Given the description of an element on the screen output the (x, y) to click on. 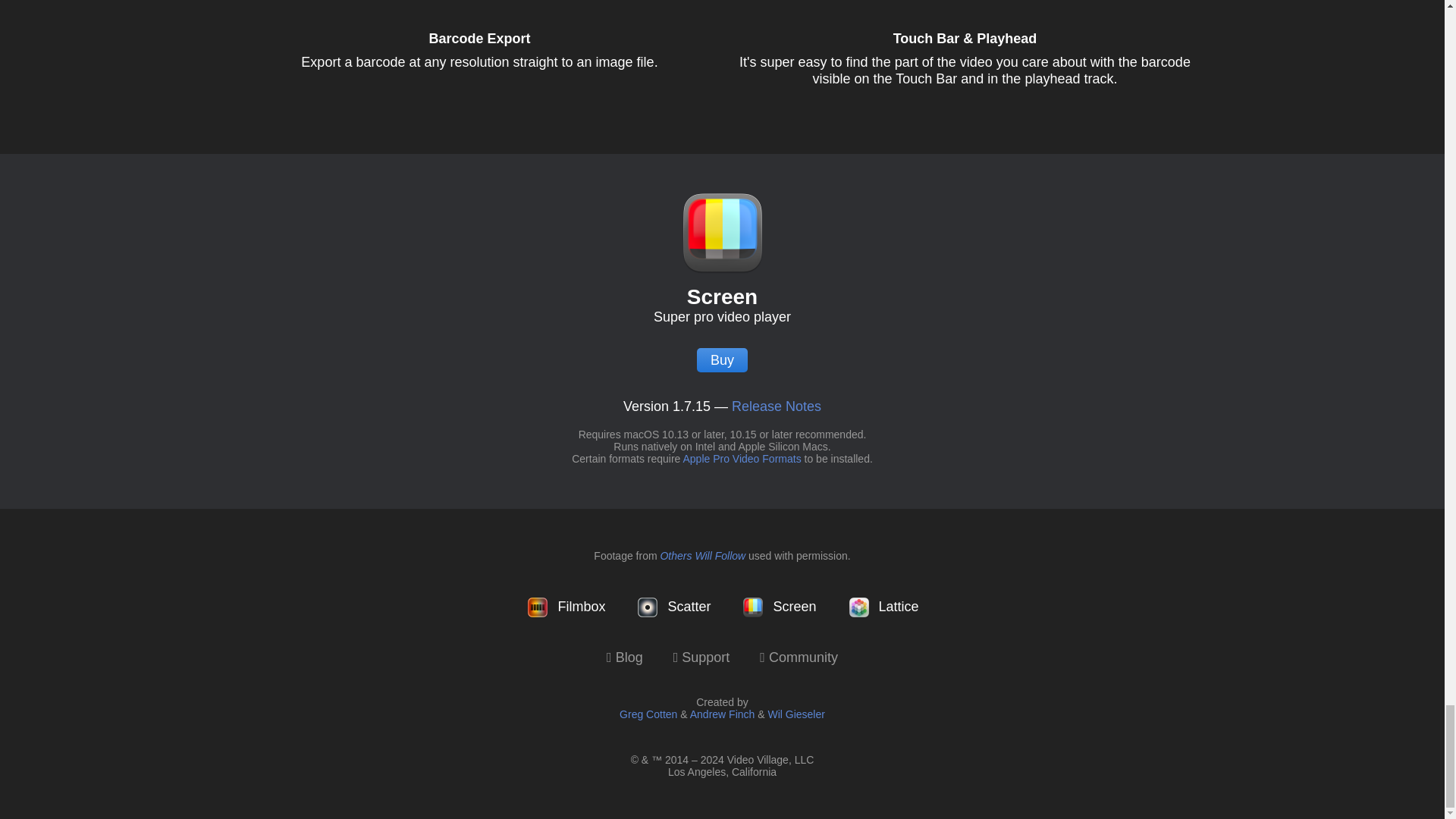
Filmbox (565, 607)
Wil Gieseler (795, 714)
Release Notes (776, 406)
Buy (722, 360)
Lattice (882, 607)
Scatter (672, 607)
Andrew Finch (722, 714)
Support (701, 657)
Screen (778, 607)
Others Will Follow (702, 555)
Greg Cotten (648, 714)
Blog (625, 657)
Apple Pro Video Formats (741, 458)
Community (799, 657)
